Given the description of an element on the screen output the (x, y) to click on. 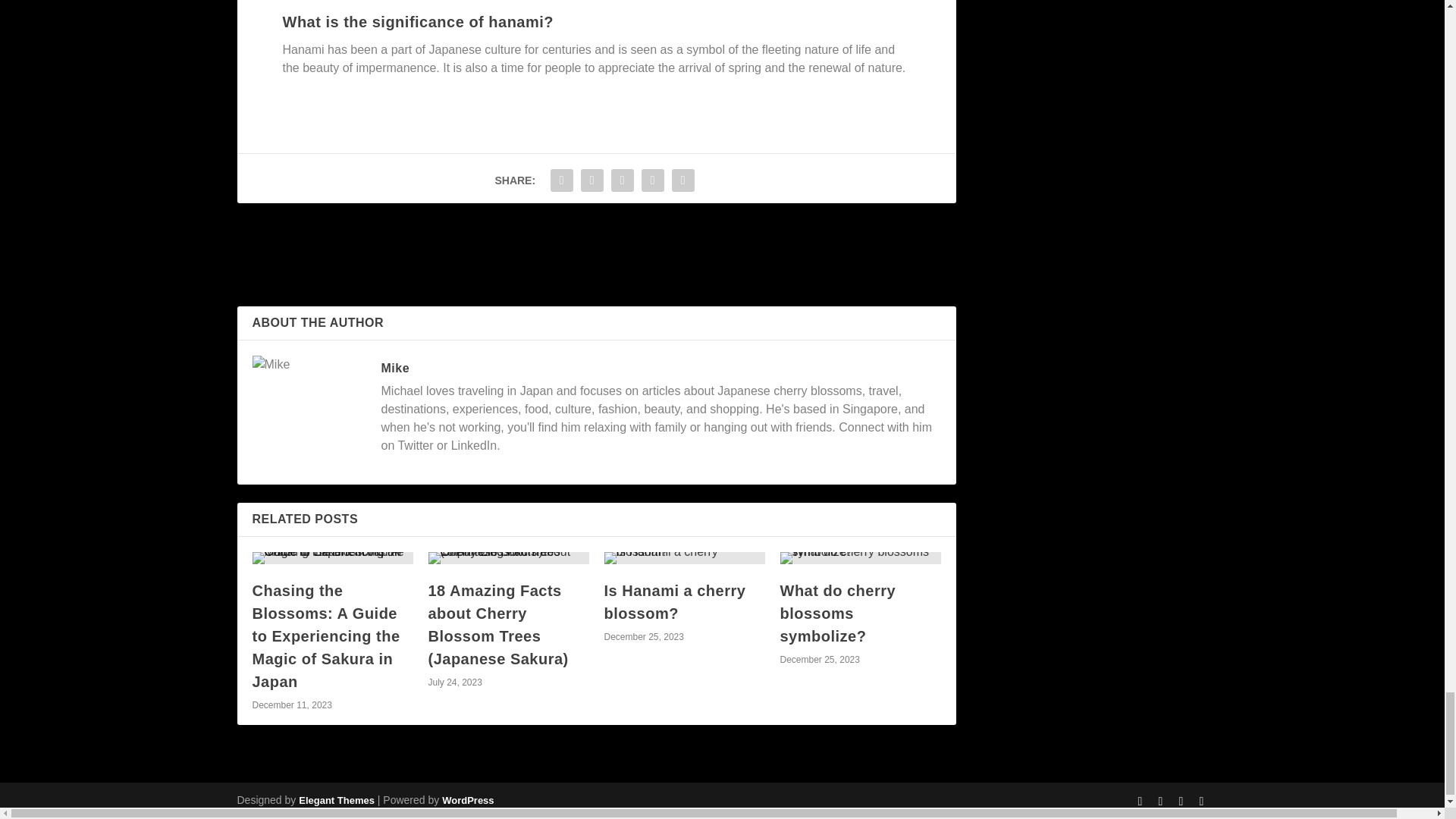
Is Hanami a cherry blossom? (684, 558)
What do cherry blossoms symbolize? (859, 558)
Share "What is hanami in Japanese?" via Facebook (561, 180)
Share "What is hanami in Japanese?" via Twitter (591, 180)
Premium WordPress Themes (336, 799)
Mike (394, 367)
Is Hanami a cherry blossom? (674, 601)
Share "What is hanami in Japanese?" via Print (683, 180)
What do cherry blossoms symbolize? (836, 613)
View all posts by Mike (394, 367)
Share "What is hanami in Japanese?" via Email (652, 180)
Share "What is hanami in Japanese?" via Pinterest (622, 180)
